Given the description of an element on the screen output the (x, y) to click on. 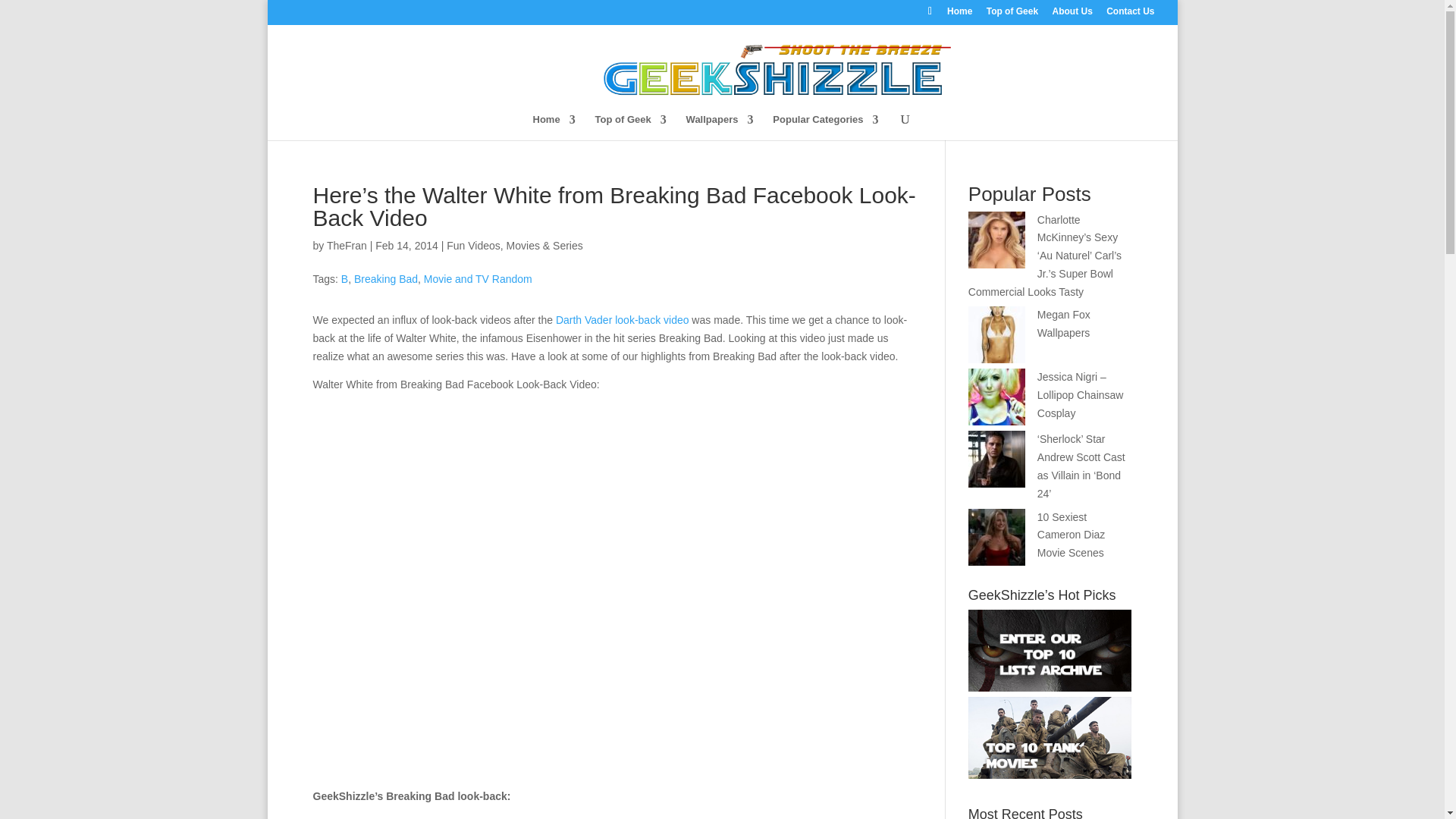
Movie and TV Random (477, 278)
Top of Geek (630, 126)
TheFran (346, 245)
Fun Videos (473, 245)
B (343, 278)
Home (553, 126)
Contact Us (1130, 14)
About Us (1071, 14)
Top of Geek (1012, 14)
Home (959, 14)
Popular Categories (825, 126)
Posts by TheFran (346, 245)
Wallpapers (719, 126)
Breaking Bad (385, 278)
